Given the description of an element on the screen output the (x, y) to click on. 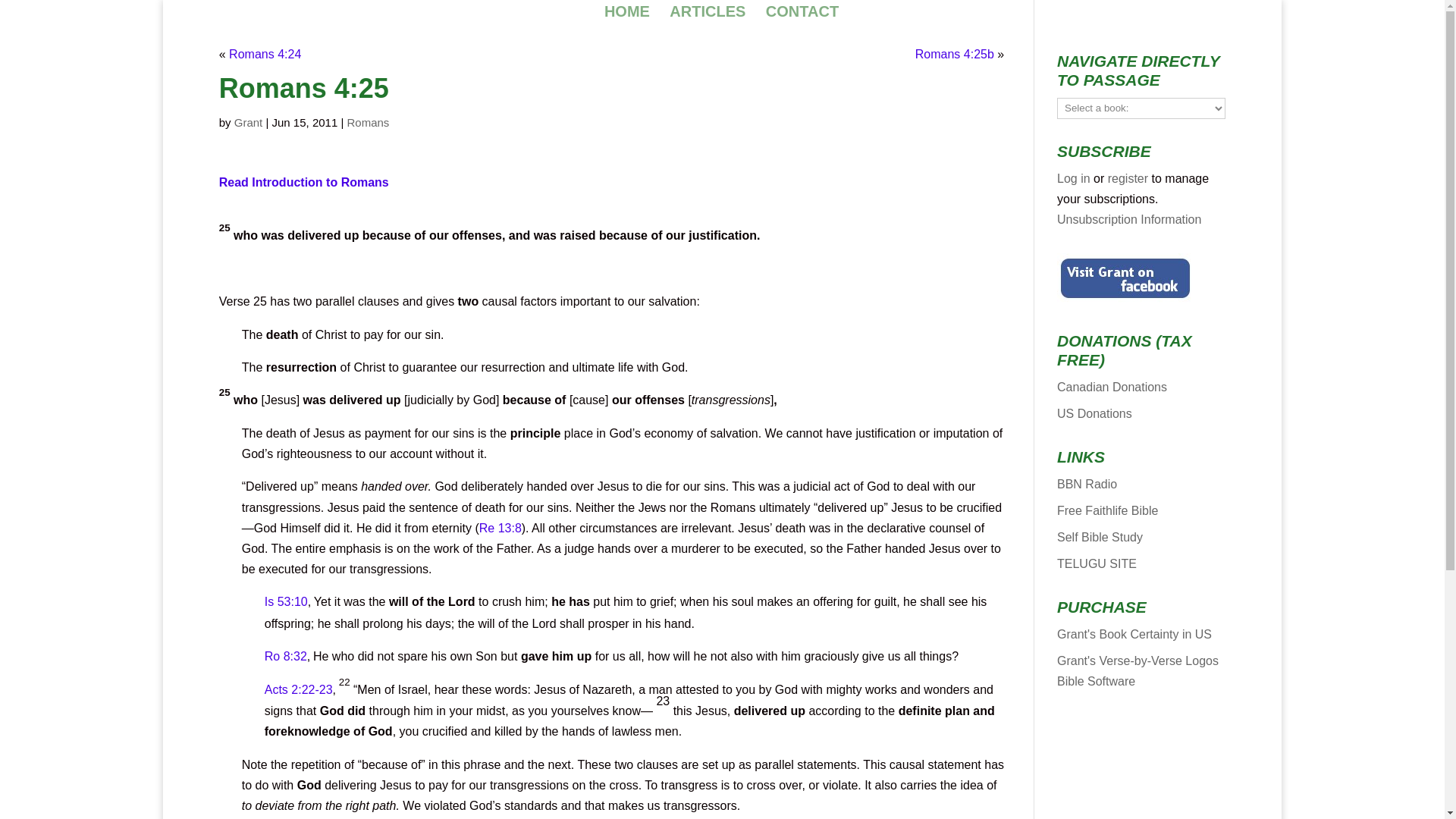
Free Study Bible with many resources (1107, 510)
Re 13:8 (500, 527)
Ro 8:32 (285, 656)
US Donations (1094, 413)
Grant's Verse-by-Verse Logos Bible Software (1137, 670)
Visit Grant on FaceBook (1125, 277)
Acts 2:22-23 (298, 689)
Telugu verse-by-verse commentary (1097, 563)
Grant (248, 122)
Read Introduction to Romans (303, 182)
